Given the description of an element on the screen output the (x, y) to click on. 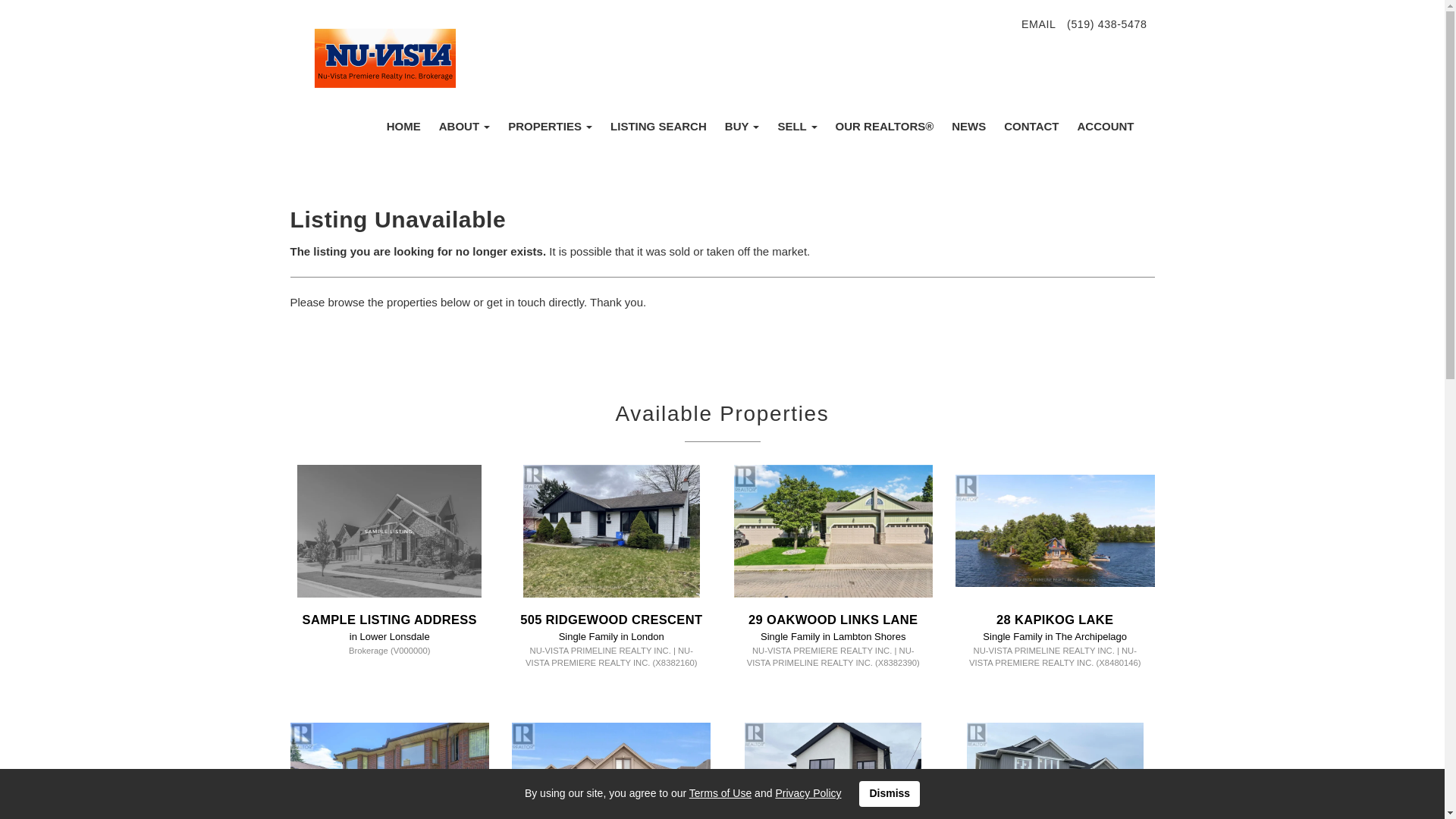
ACCOUNT (1104, 126)
505 RIDGEWOOD CRESCENT (610, 619)
29 OAKWOOD LINKS LANE (832, 619)
28 KAPIKOG LAKE (1054, 619)
BUY (742, 126)
CONTACT (1030, 126)
SELL (796, 126)
PROPERTIES (550, 126)
HOME (403, 126)
ABOUT (464, 126)
